Given the description of an element on the screen output the (x, y) to click on. 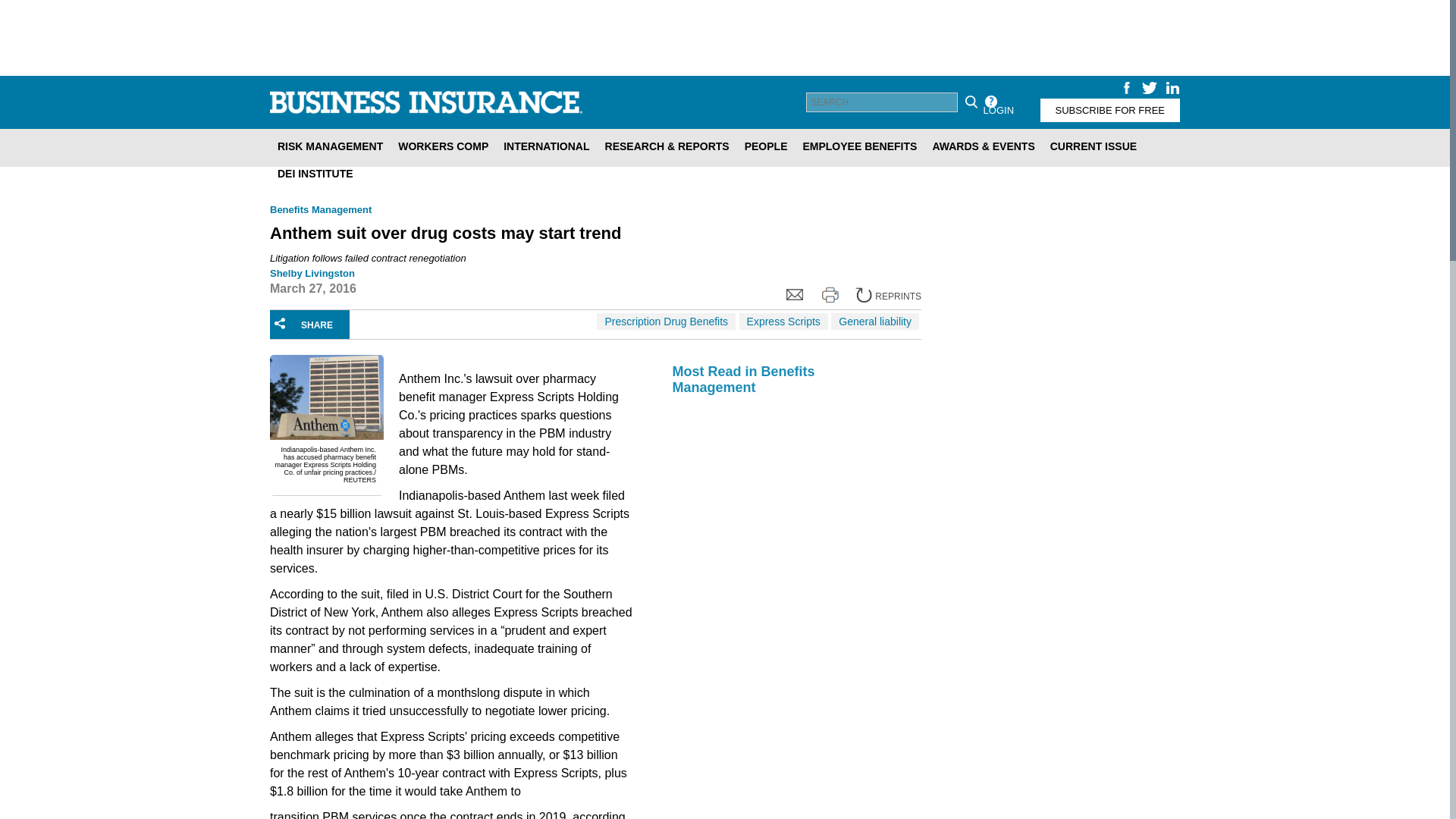
RISK MANAGEMENT (329, 145)
Help (990, 101)
SUBSCRIBE FOR FREE (1110, 110)
WORKERS COMP (443, 145)
LOGIN (998, 110)
INTERNATIONAL (546, 145)
PEOPLE (765, 145)
